Given the description of an element on the screen output the (x, y) to click on. 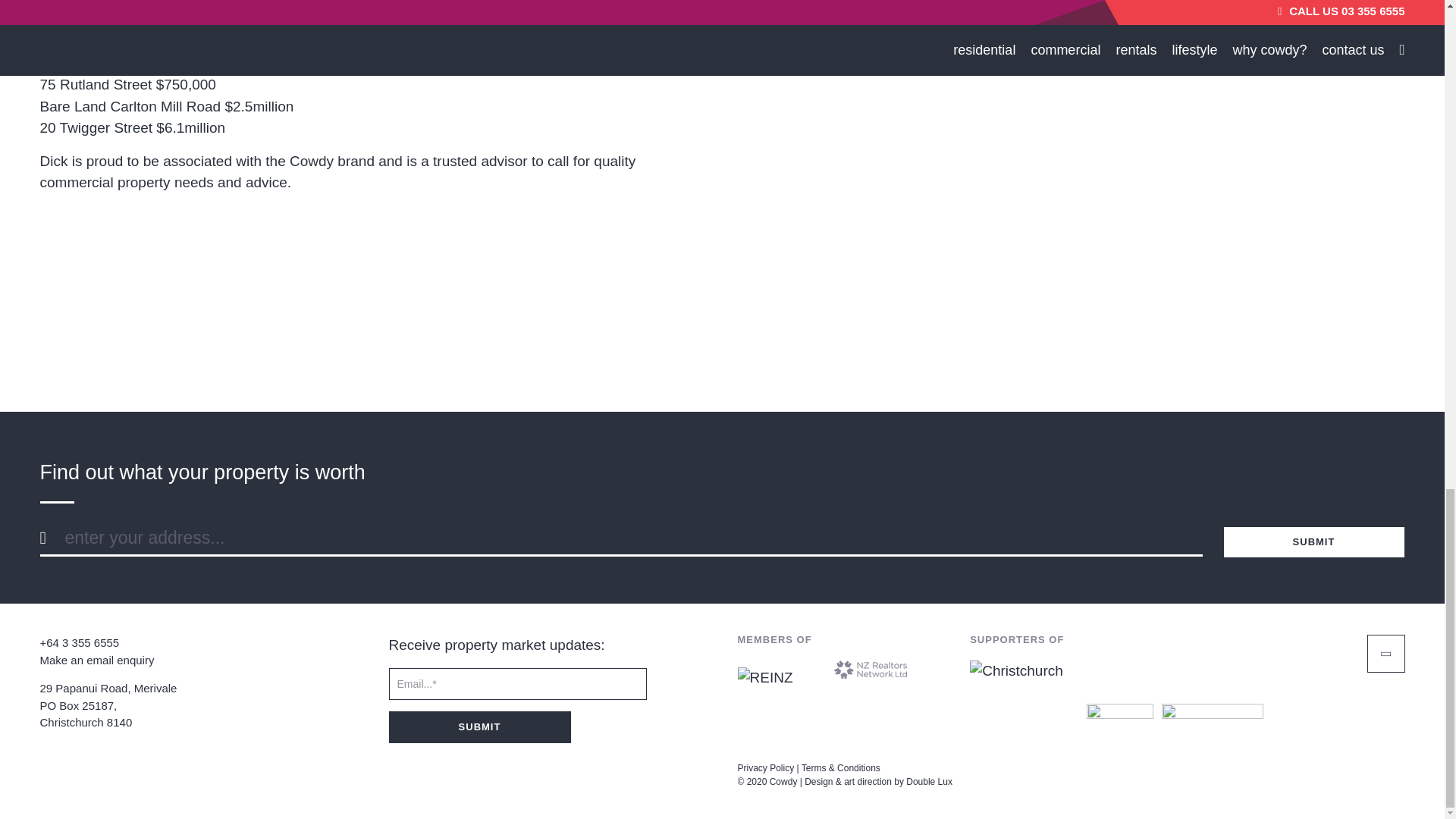
Scroll to top (1386, 653)
Submit (479, 726)
SUBMIT (1314, 541)
